Given the description of an element on the screen output the (x, y) to click on. 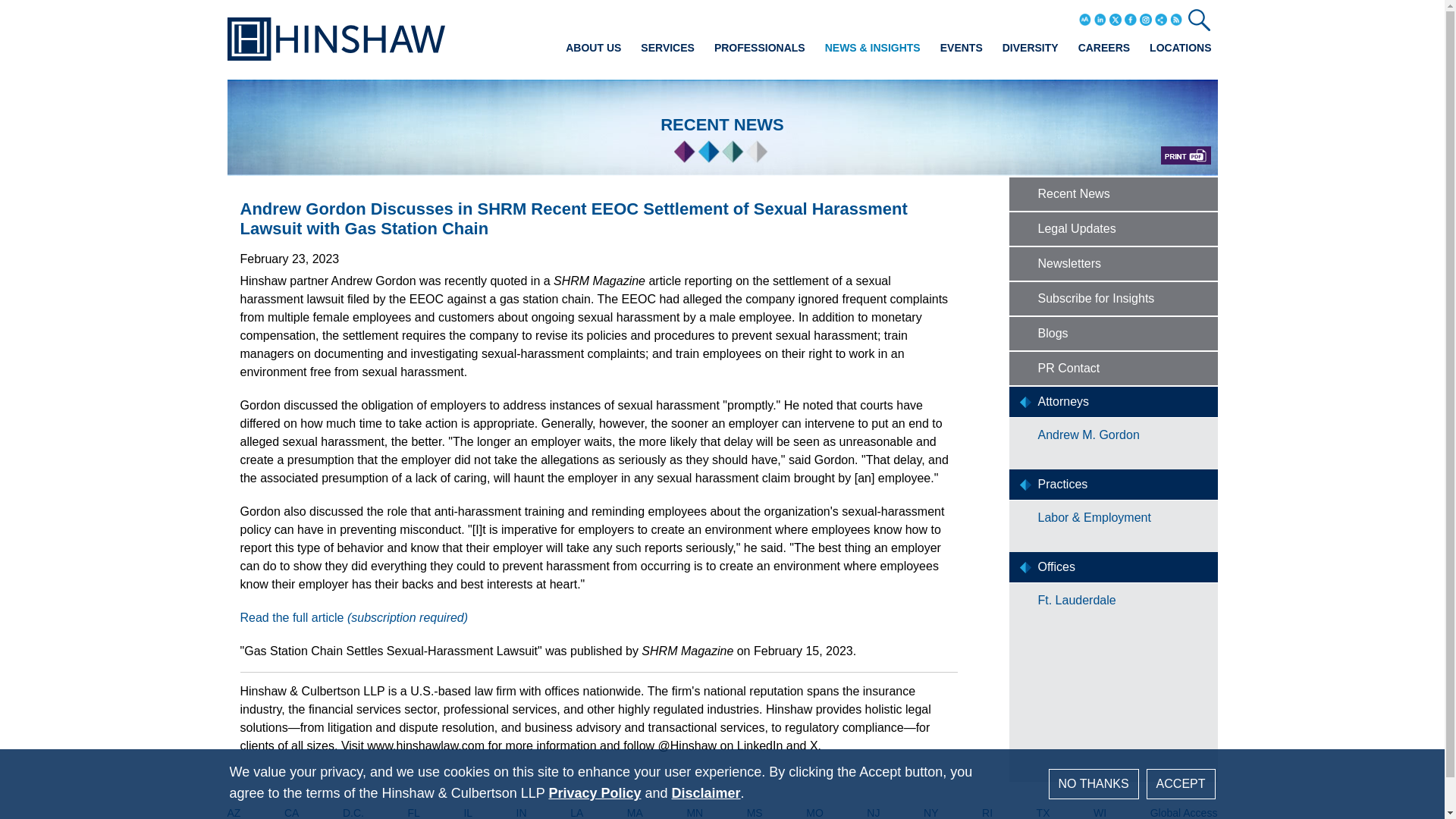
Link to law.com (353, 617)
Main Menu (680, 16)
SERVICES (667, 47)
Menu (680, 16)
ABOUT US (593, 47)
PROFESSIONALS (759, 47)
Main Content (674, 16)
